Given the description of an element on the screen output the (x, y) to click on. 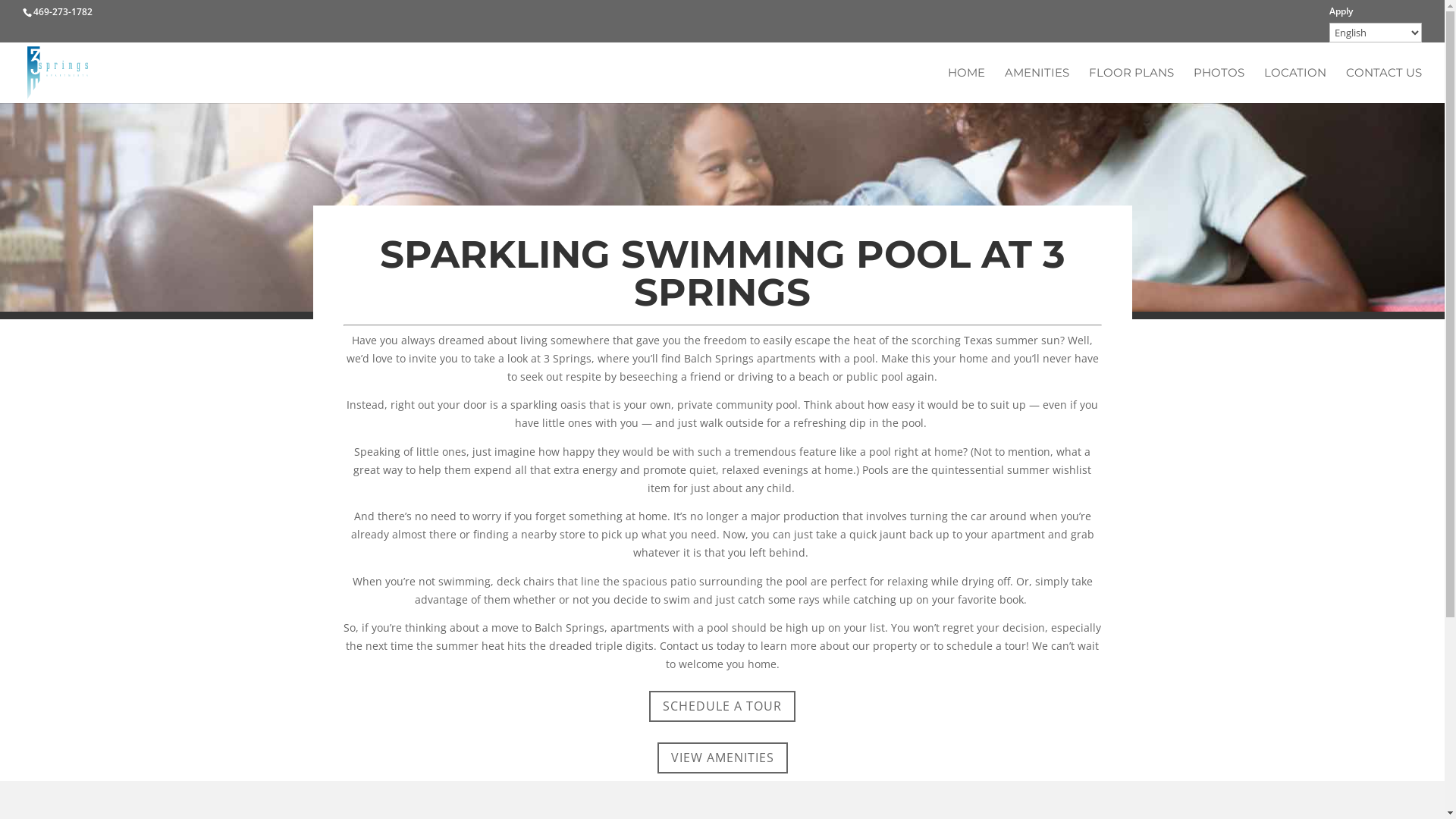
PHOTOS Element type: text (1218, 85)
LOCATION Element type: text (1295, 85)
HOME Element type: text (966, 85)
VIEW AMENITIES Element type: text (721, 757)
CONTACT US Element type: text (1383, 85)
SCHEDULE A TOUR Element type: text (722, 705)
FLOOR PLANS Element type: text (1130, 85)
Apply Element type: text (1340, 14)
AMENITIES Element type: text (1036, 85)
